Given the description of an element on the screen output the (x, y) to click on. 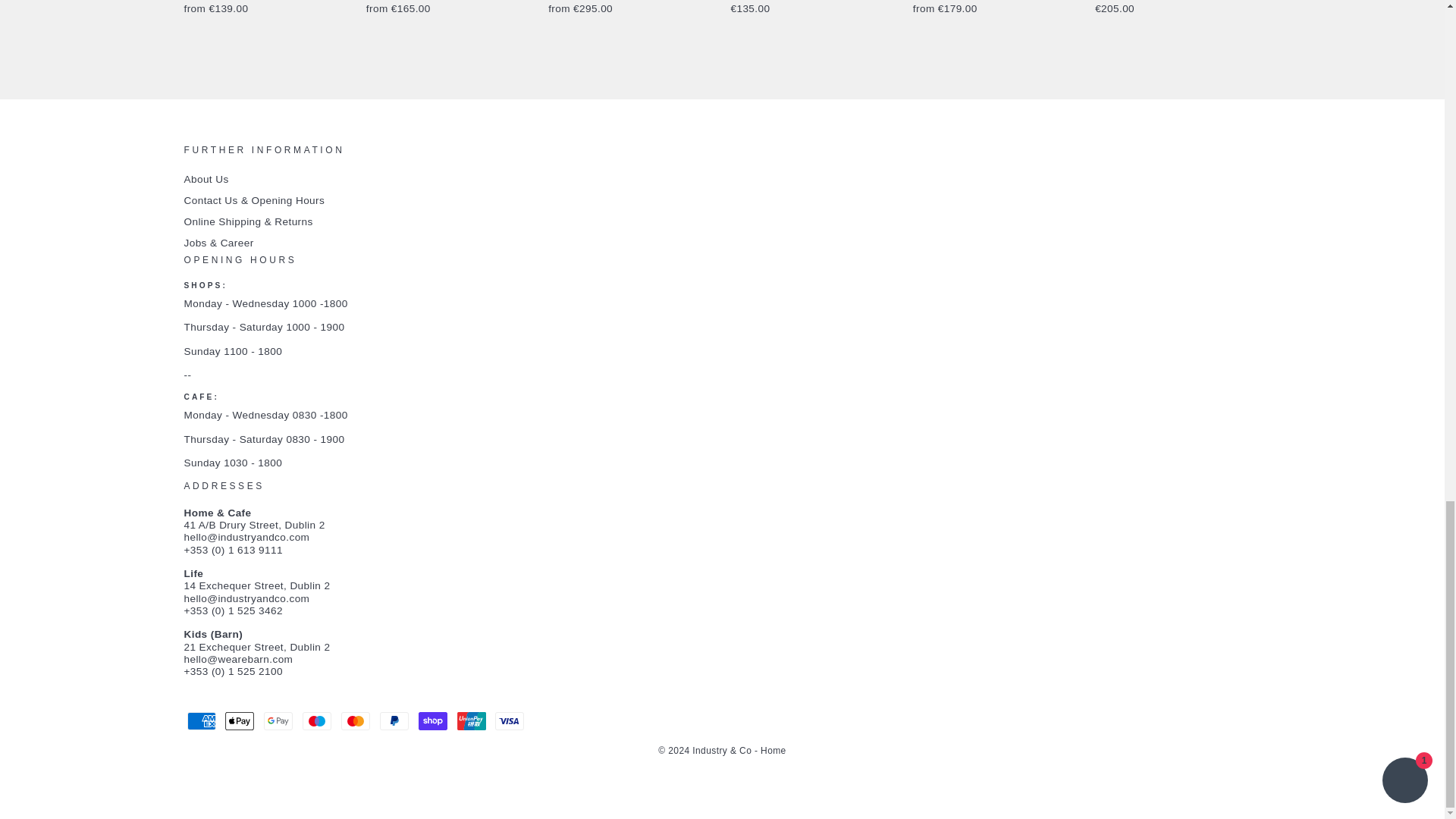
Mastercard (354, 720)
American Express (200, 720)
Visa (509, 720)
Apple Pay (239, 720)
Shop Pay (432, 720)
Google Pay (277, 720)
Union Pay (471, 720)
Maestro (316, 720)
PayPal (394, 720)
